Given the description of an element on the screen output the (x, y) to click on. 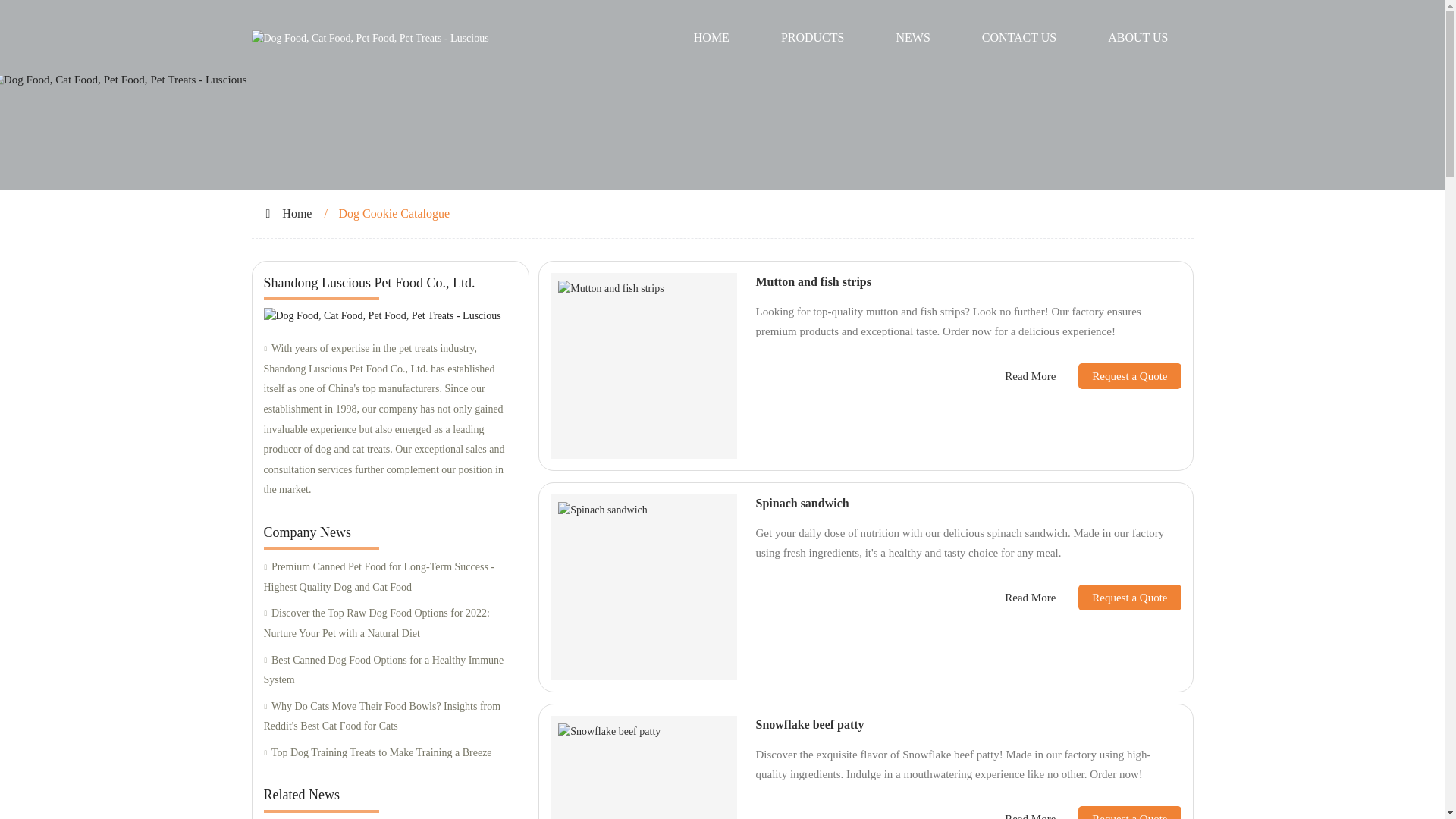
Mutton and fish strips (812, 281)
Request a Quote (1117, 376)
Read More (1029, 375)
HOME (711, 38)
Best Canned Dog Food Options for a Healthy Immune System (389, 670)
CONTACT US (1018, 38)
ABOUT US (1137, 38)
Top Dog Training Treats to Make Training a Breeze (389, 752)
PRODUCTS (812, 38)
Home (296, 213)
NEWS (912, 38)
